Given the description of an element on the screen output the (x, y) to click on. 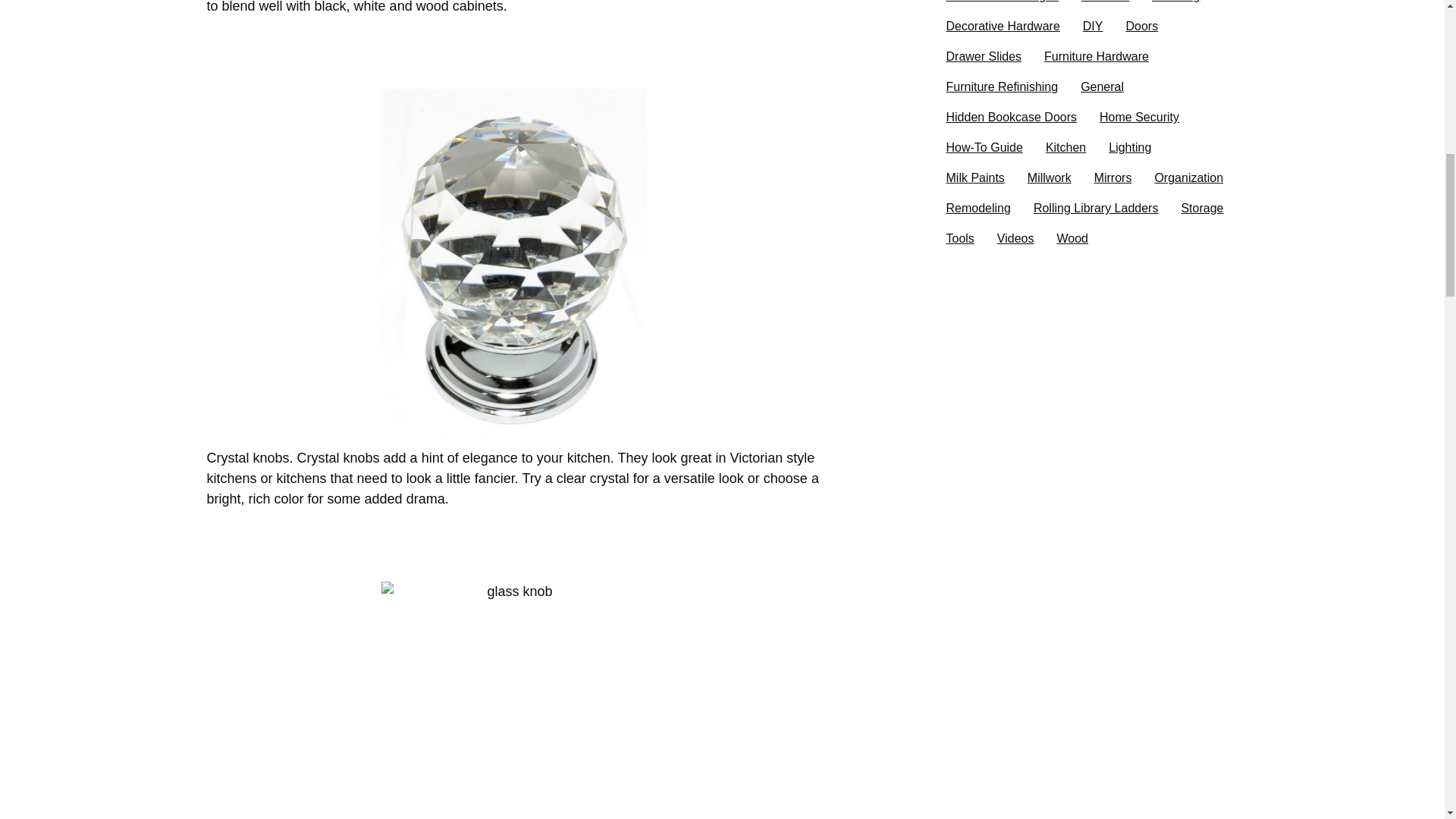
Remodeling (978, 208)
Cabinet Door Hinges (1002, 5)
glass knob (513, 700)
Furniture Refinishing (1002, 87)
Drawer Slides (984, 56)
Kitchen (1065, 147)
Hidden Bookcase Doors (1011, 117)
Furniture Hardware (1095, 56)
DIY (1093, 26)
Cabinets (1105, 5)
Lighting (1129, 147)
How-To Guide (984, 147)
Millwork (1049, 177)
General (1102, 87)
Rolling Library Ladders (1095, 208)
